Given the description of an element on the screen output the (x, y) to click on. 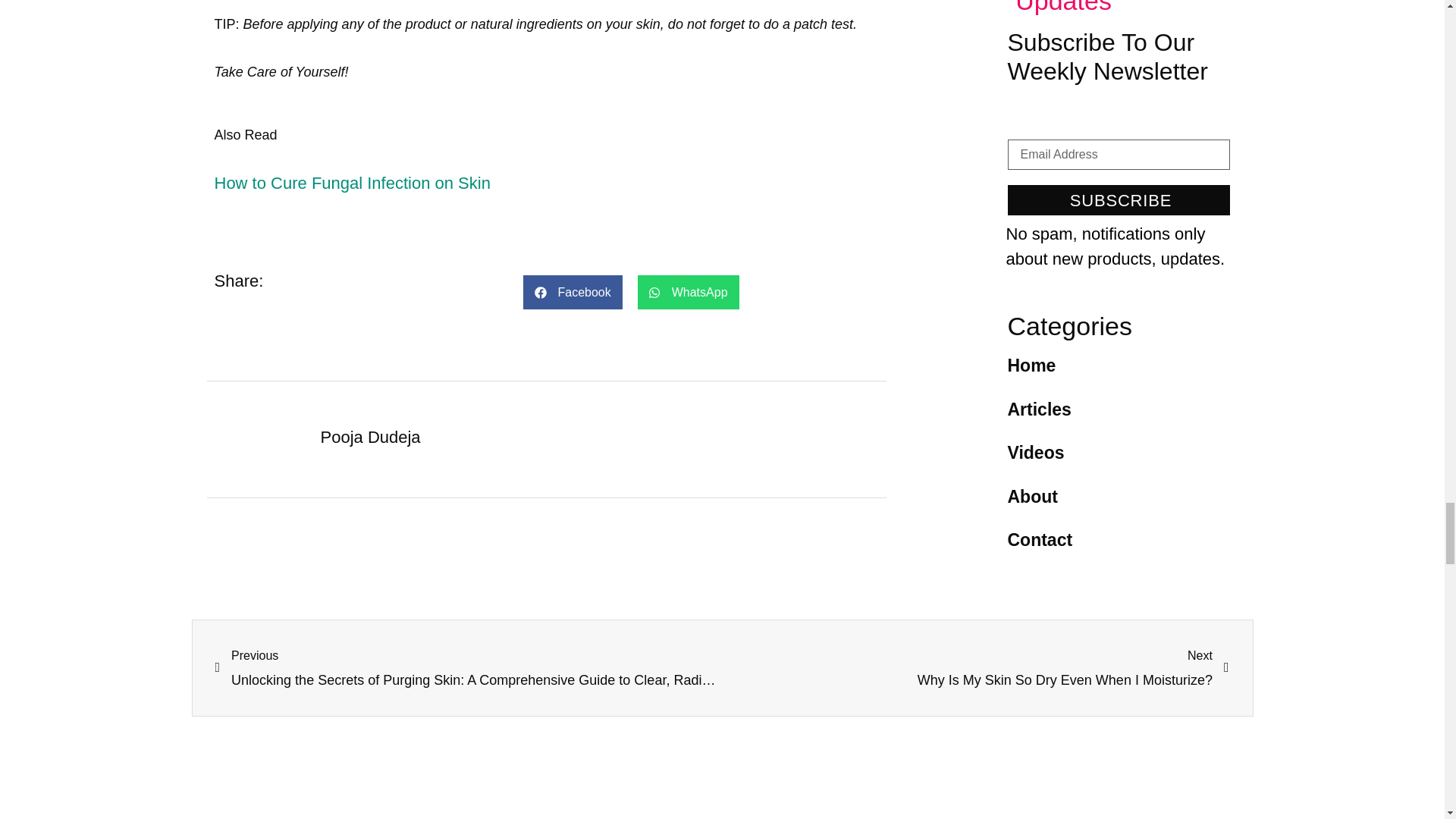
How to Cure Fungal Infection on Skin (351, 182)
